Given the description of an element on the screen output the (x, y) to click on. 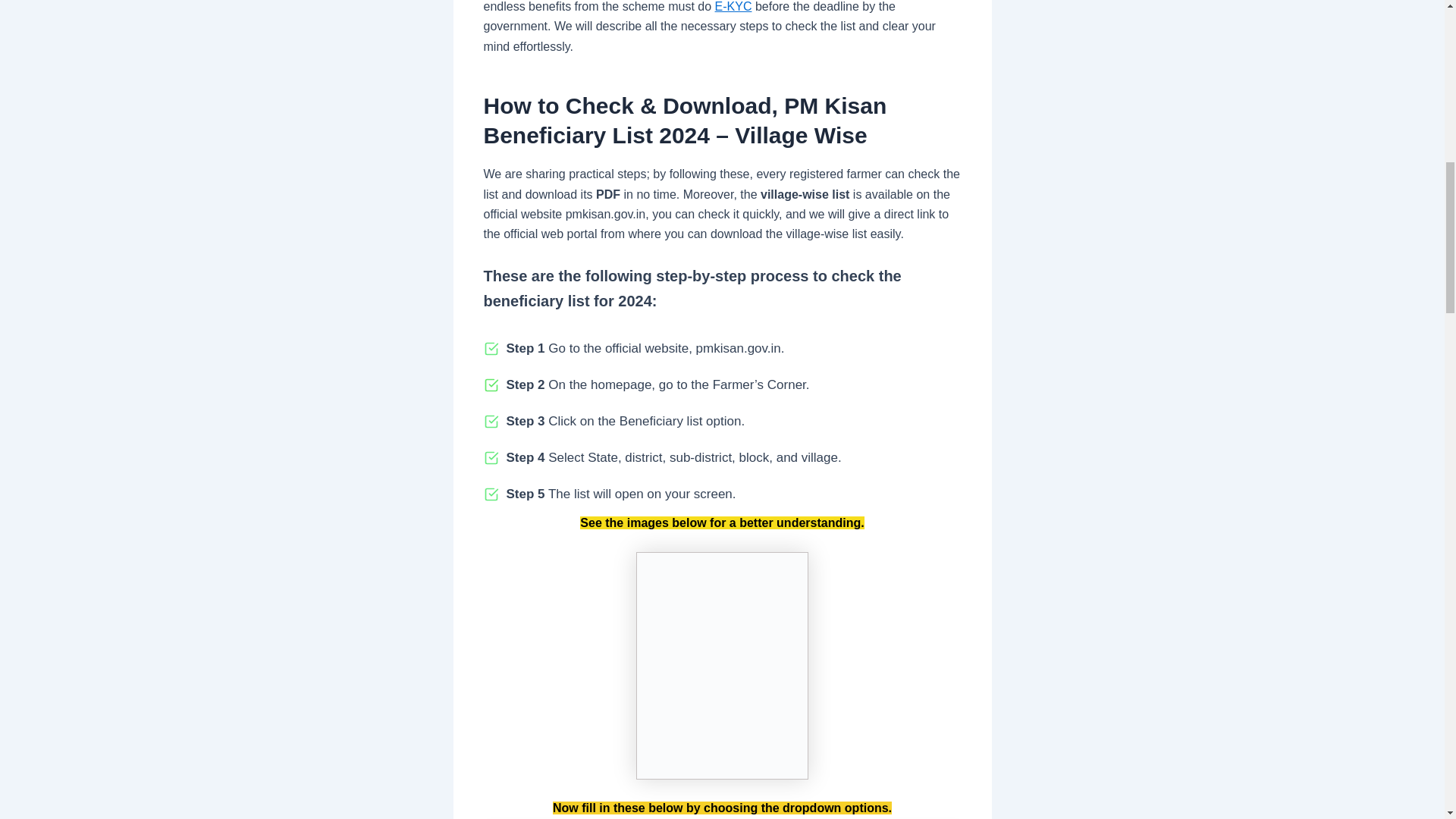
E-KYC (733, 6)
